Given the description of an element on the screen output the (x, y) to click on. 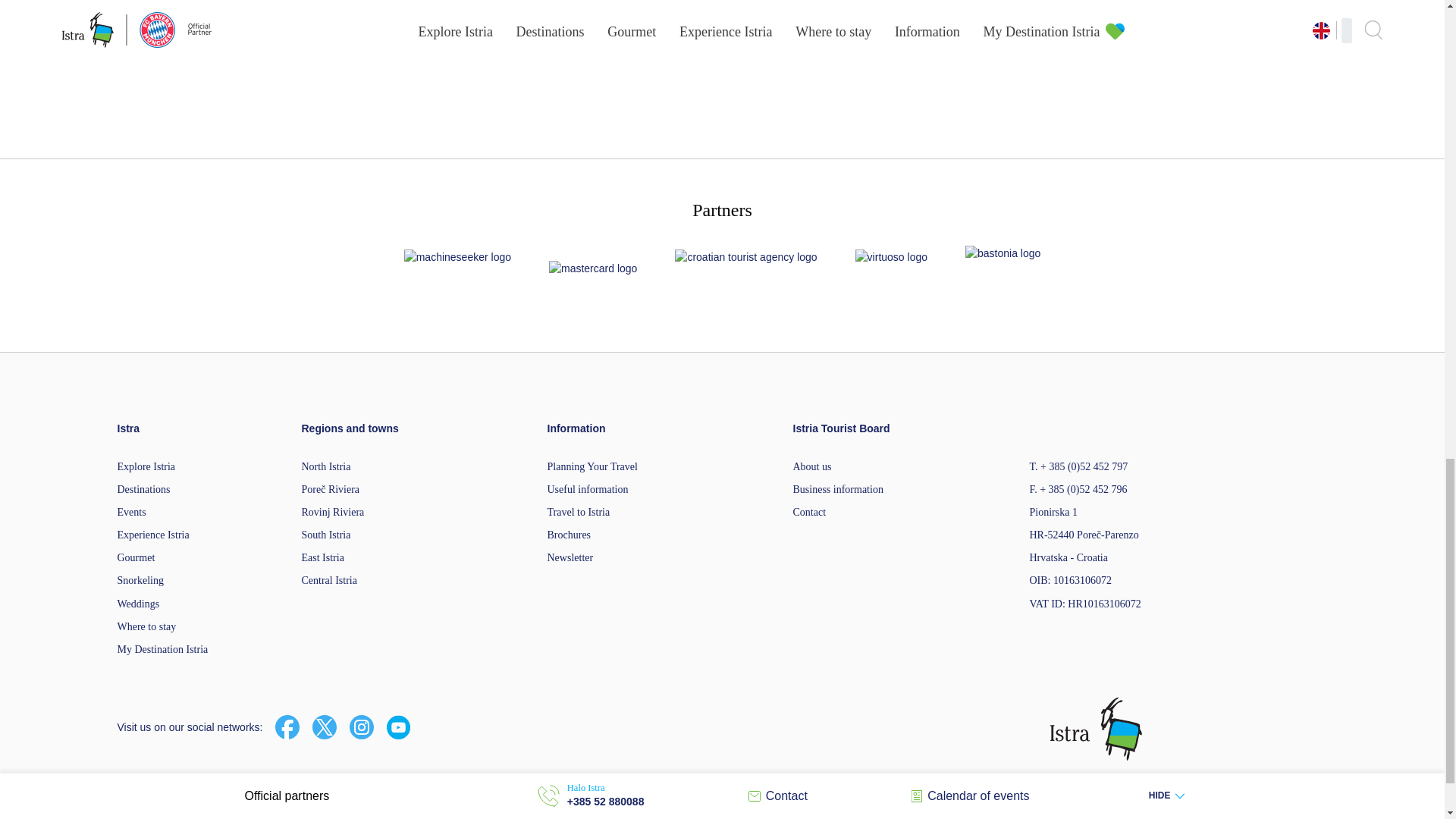
Destinations (143, 489)
South Istria (325, 534)
Planning Your Travel (592, 466)
Central Istria (328, 580)
Travel to Istria (578, 511)
Where to stay (146, 626)
North Istria (325, 466)
Experience Istria (152, 534)
Weddings (137, 603)
Snorkeling (139, 580)
Gourmet (135, 557)
Rovinj Riviera (333, 511)
Explore Istria (145, 466)
My Destination Istria (162, 649)
Events (130, 511)
